Given the description of an element on the screen output the (x, y) to click on. 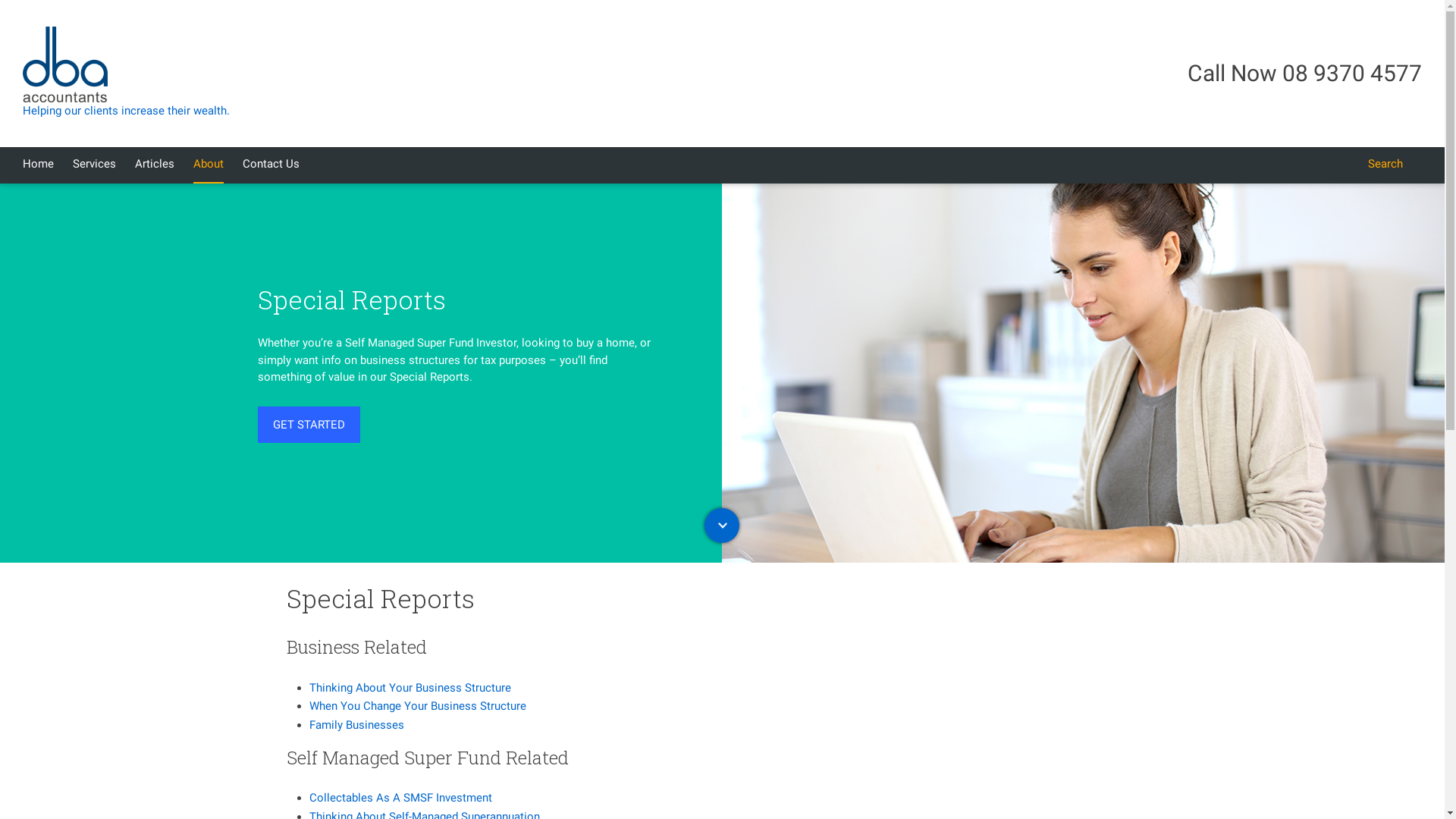
GET STARTED Element type: text (308, 424)
Thinking About Your Business Structure Element type: text (410, 687)
Collectables As A SMSF Investment Element type: text (400, 797)
When You Change Your Business Structure Element type: text (417, 705)
Down Element type: text (721, 525)
Articles Element type: text (154, 165)
Family Businesses Element type: text (356, 724)
Call Now 08 9370 4577 Element type: text (1304, 72)
About Element type: text (208, 165)
Services Element type: text (94, 165)
Contact Us Element type: text (270, 165)
Search Element type: hover (1385, 165)
Home Element type: text (37, 165)
